Given the description of an element on the screen output the (x, y) to click on. 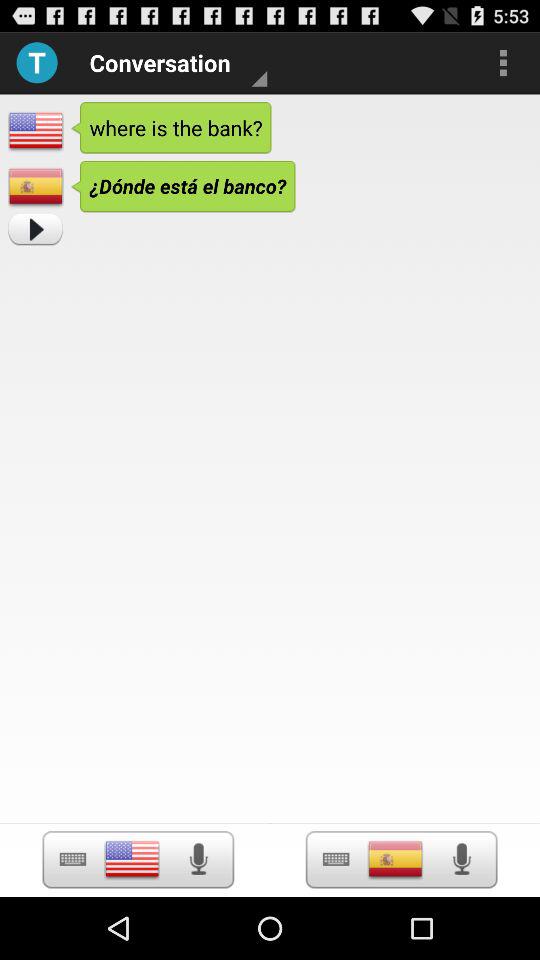
record speach (198, 859)
